Given the description of an element on the screen output the (x, y) to click on. 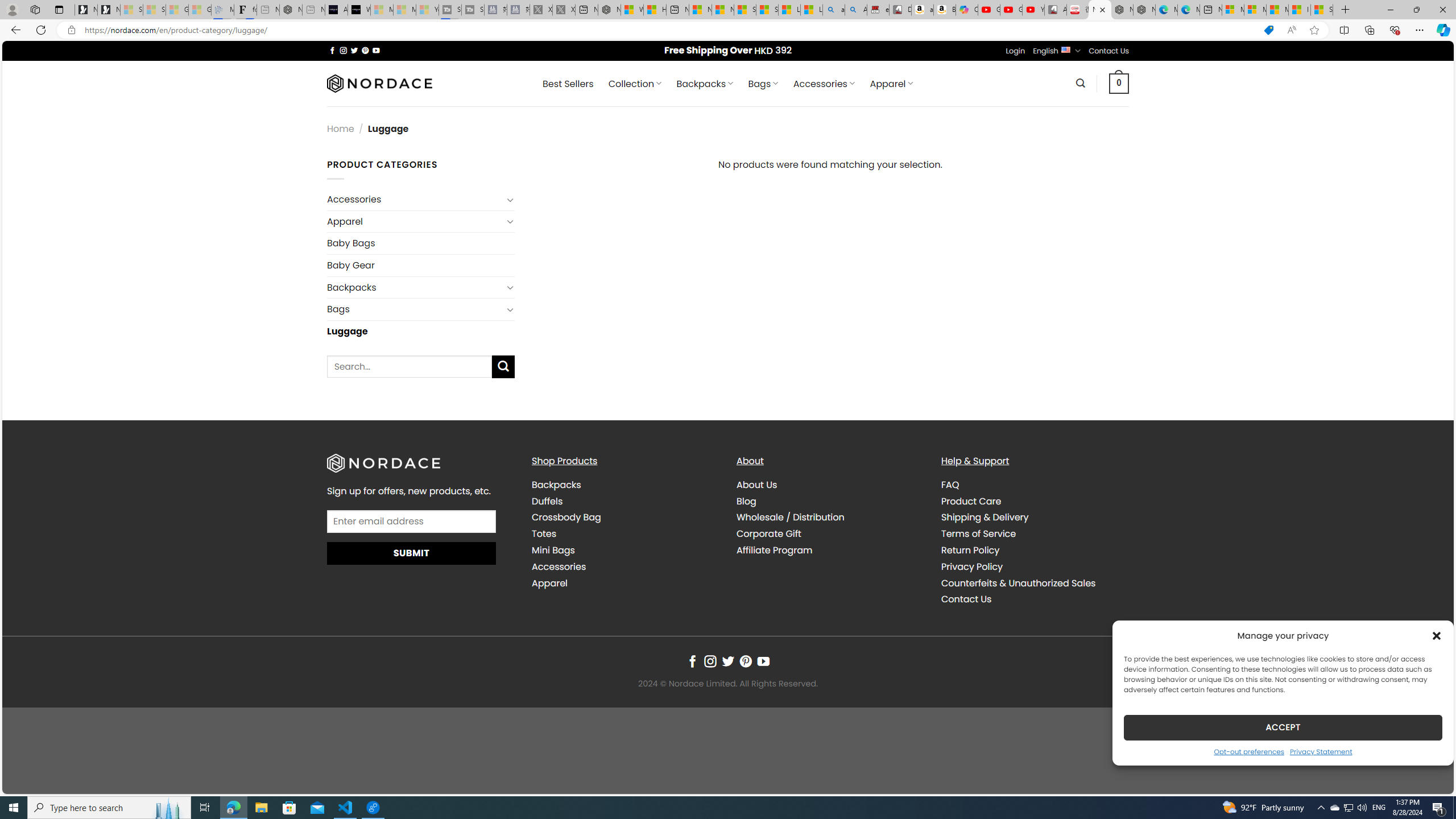
Follow on Facebook (691, 661)
Backpacks (625, 484)
Blog (746, 500)
Follow on Pinterest (745, 661)
Affiliate Program (774, 550)
Privacy Policy (971, 566)
Affiliate Program (830, 549)
AI Voice Changer for PC and Mac - Voice.ai (336, 9)
